Given the description of an element on the screen output the (x, y) to click on. 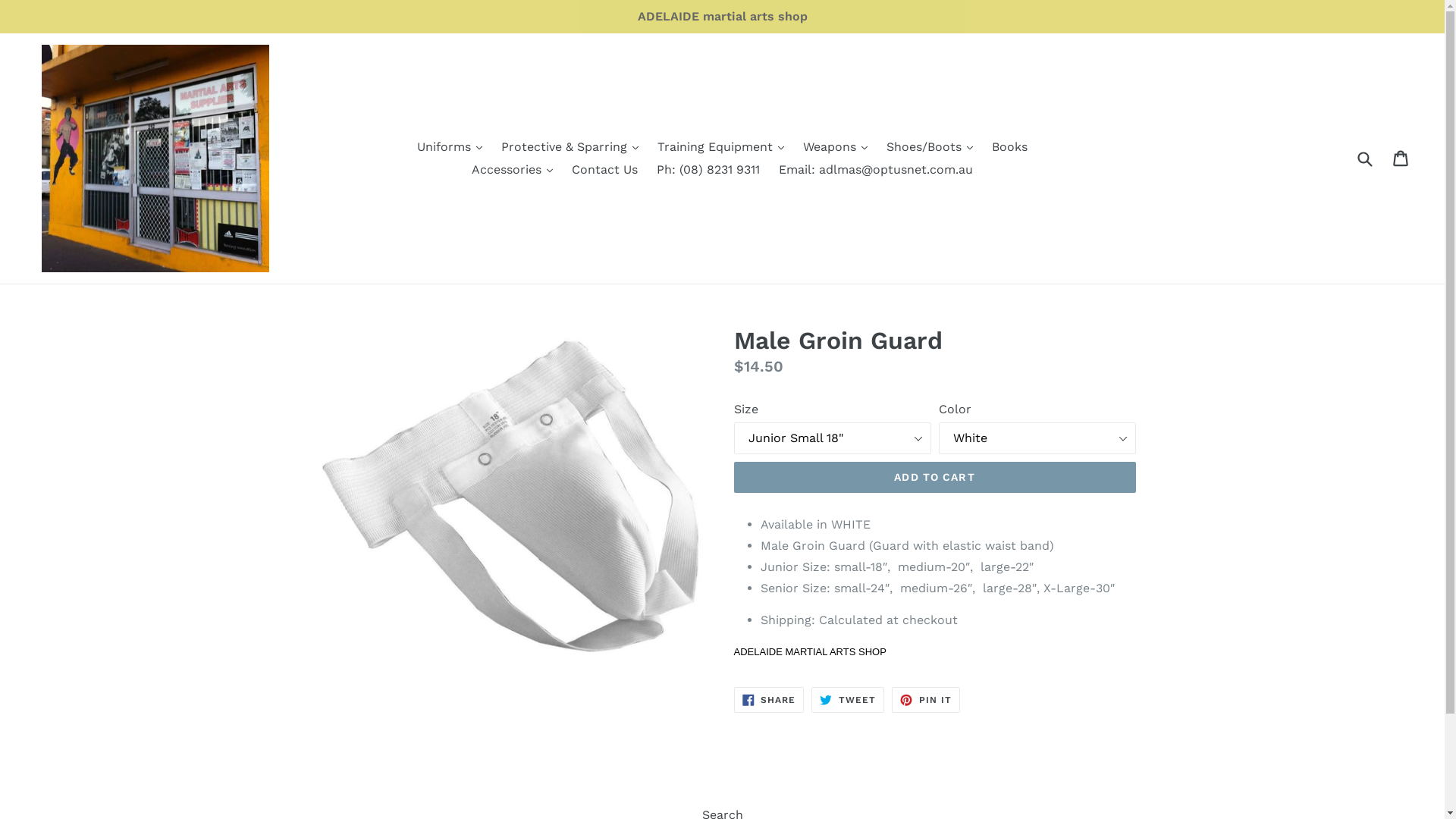
Contact Us Element type: text (604, 169)
SHARE
SHARE ON FACEBOOK Element type: text (769, 699)
Books Element type: text (1009, 146)
TWEET
TWEET ON TWITTER Element type: text (847, 699)
Email: adlmas@optusnet.com.au Element type: text (875, 169)
Ph: (08) 8231 9311 Element type: text (708, 169)
ADD TO CART Element type: text (934, 477)
Cart
Cart Element type: text (1401, 158)
ADELAIDE martial arts shop Element type: text (722, 16)
Submit Element type: text (1363, 157)
PIN IT
PIN ON PINTEREST Element type: text (925, 699)
